Given the description of an element on the screen output the (x, y) to click on. 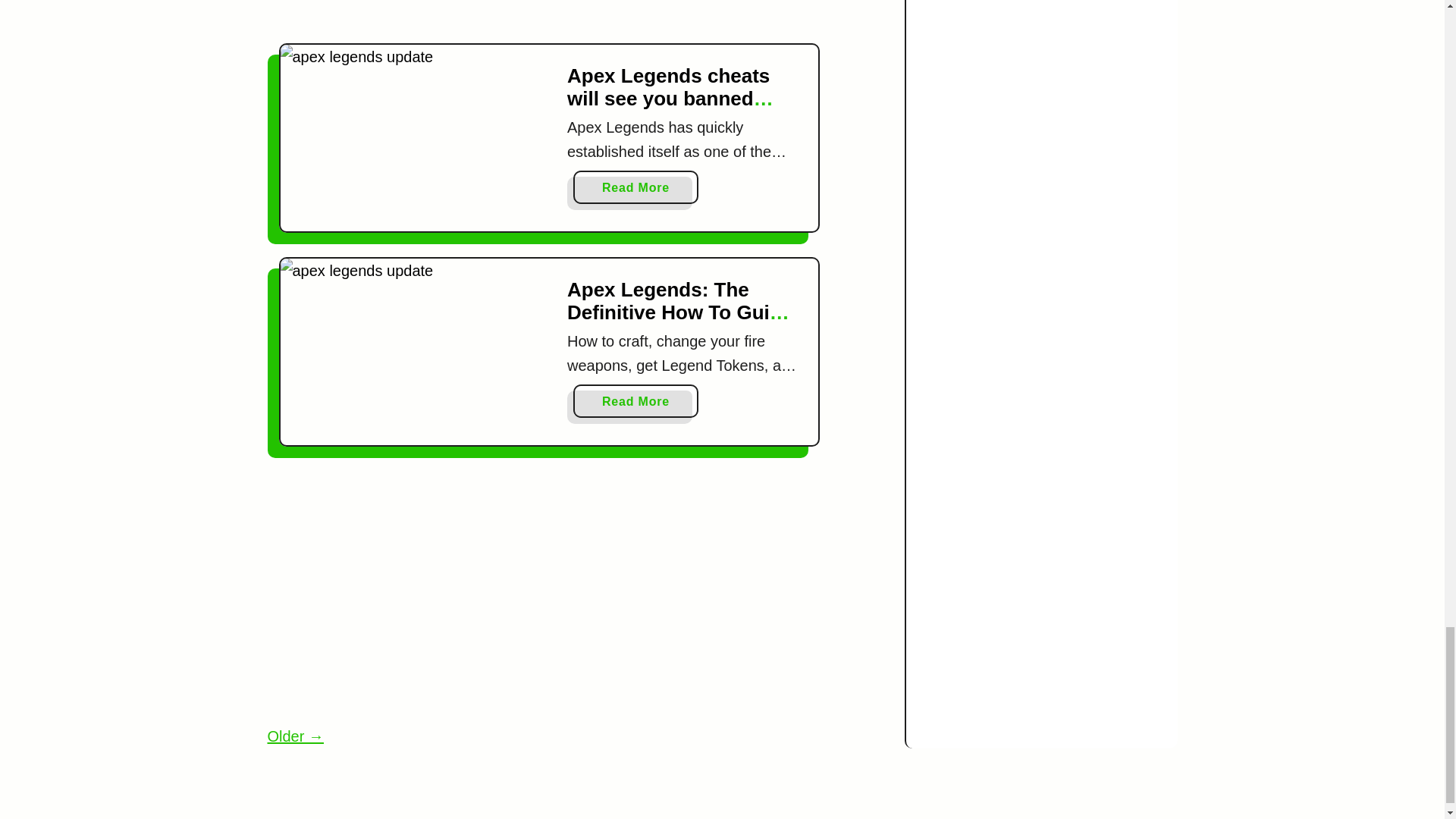
Apex Legends cheats will see you banned pretty quickly (415, 119)
